Given the description of an element on the screen output the (x, y) to click on. 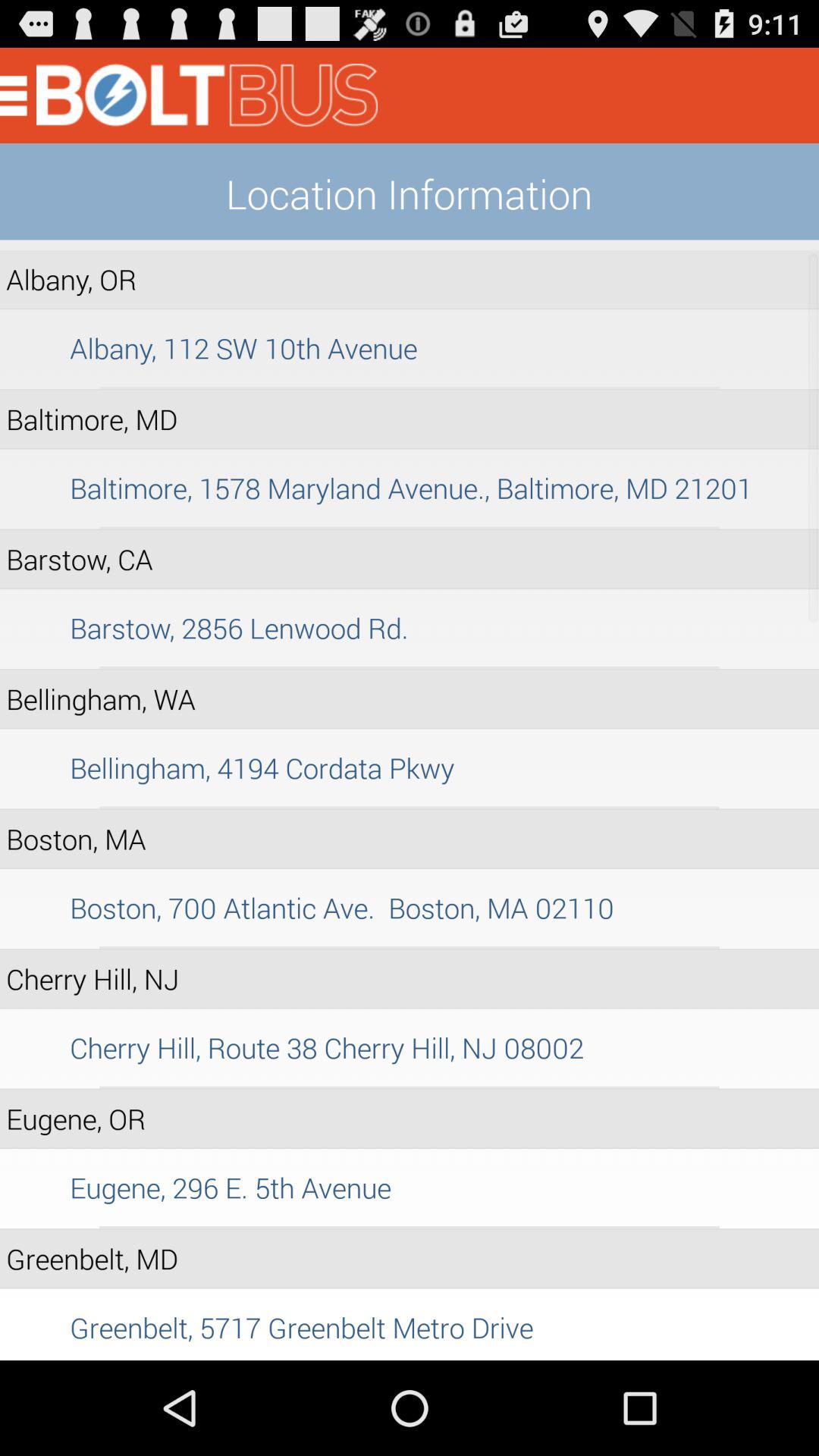
click the item above greenbelt, md icon (409, 1227)
